Given the description of an element on the screen output the (x, y) to click on. 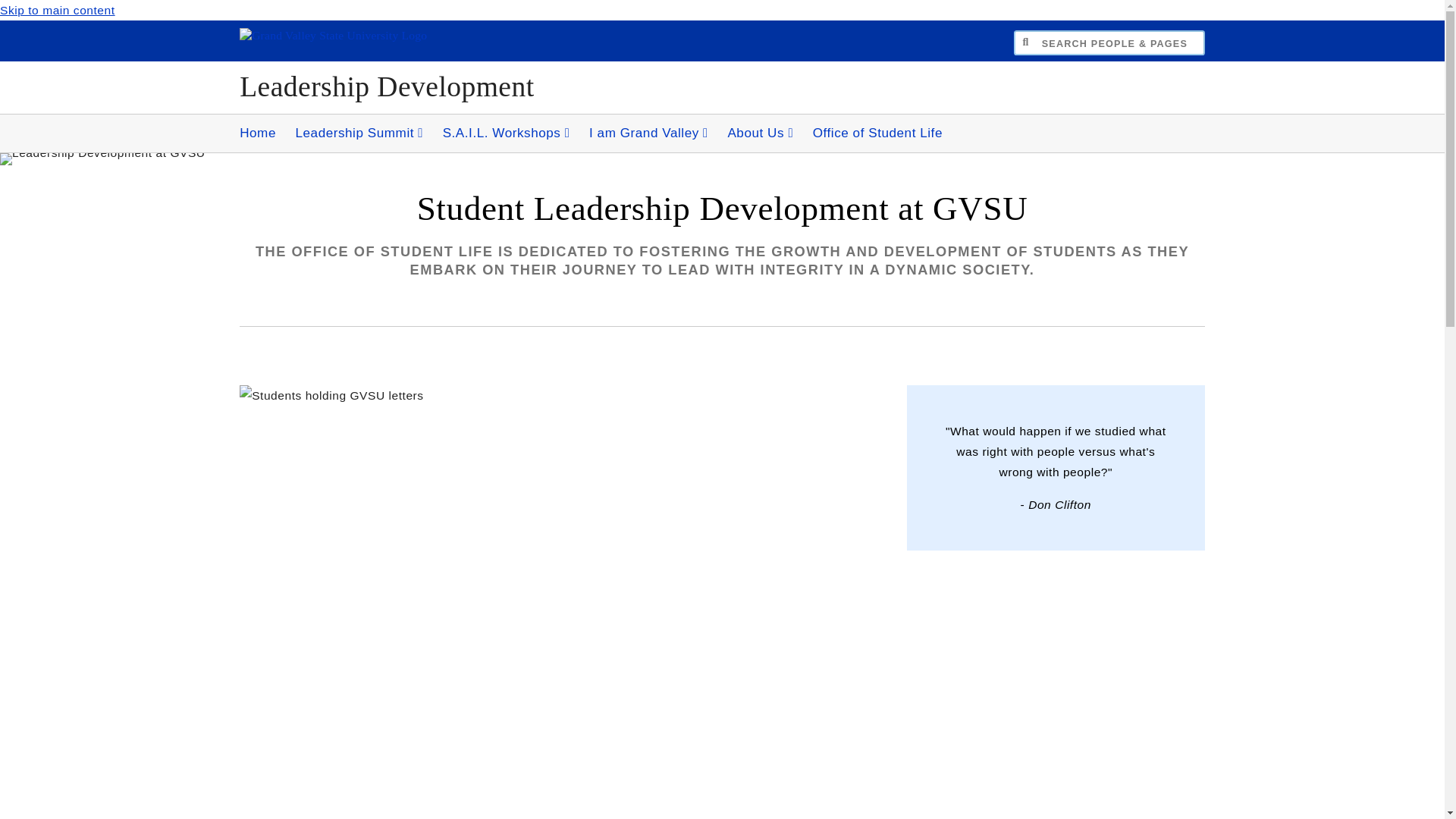
Leadership Development (387, 86)
About Us (759, 133)
Home (257, 133)
Leadership Summit (358, 133)
I am Grand Valley (648, 133)
Office of Student Life (877, 133)
S.A.I.L. Workshops (506, 133)
Skip to main content (57, 10)
